Given the description of an element on the screen output the (x, y) to click on. 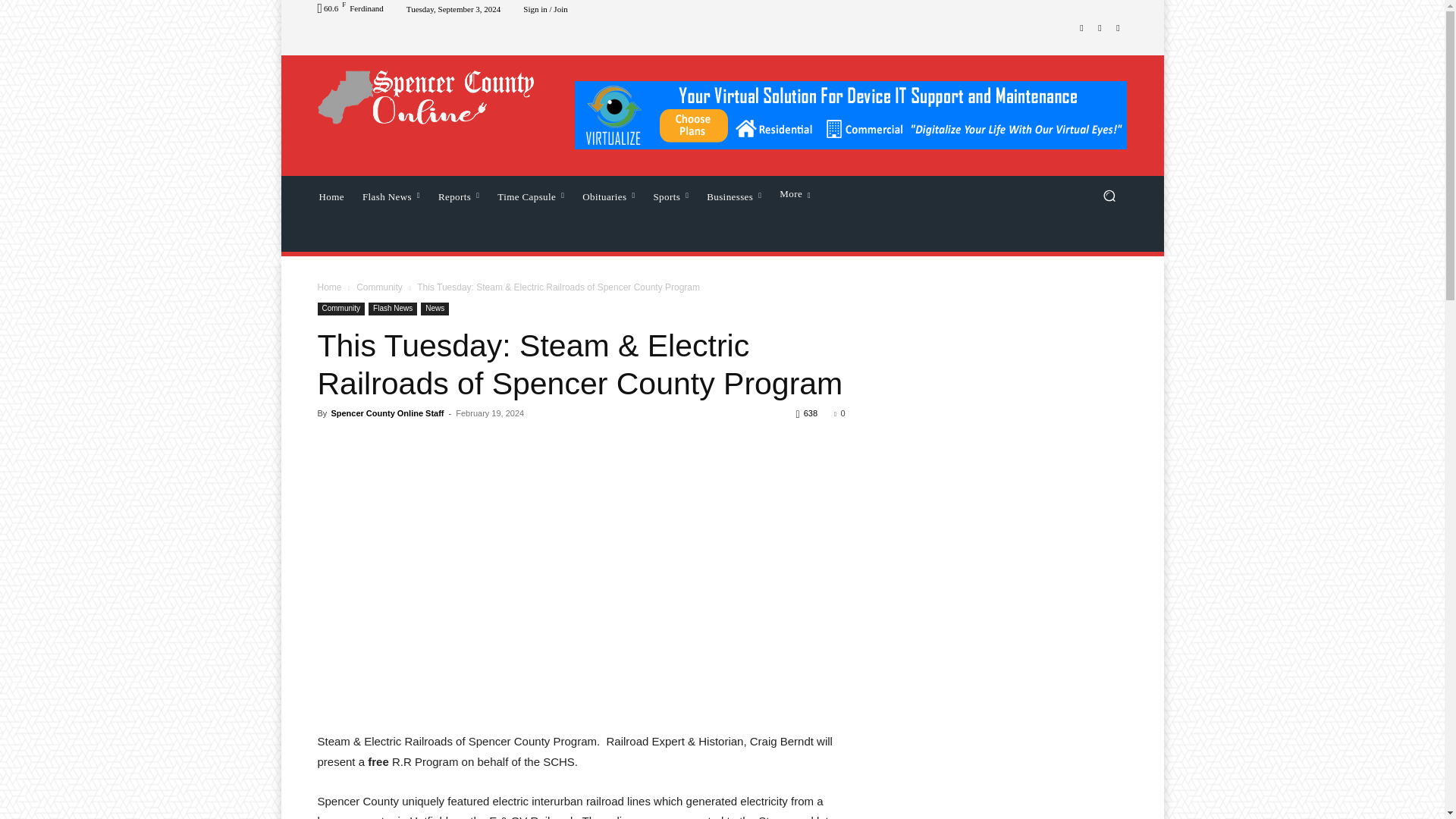
Flash News (391, 195)
Twitter (1117, 27)
Home (330, 195)
Facebook (1080, 27)
Instagram (1099, 27)
